Given the description of an element on the screen output the (x, y) to click on. 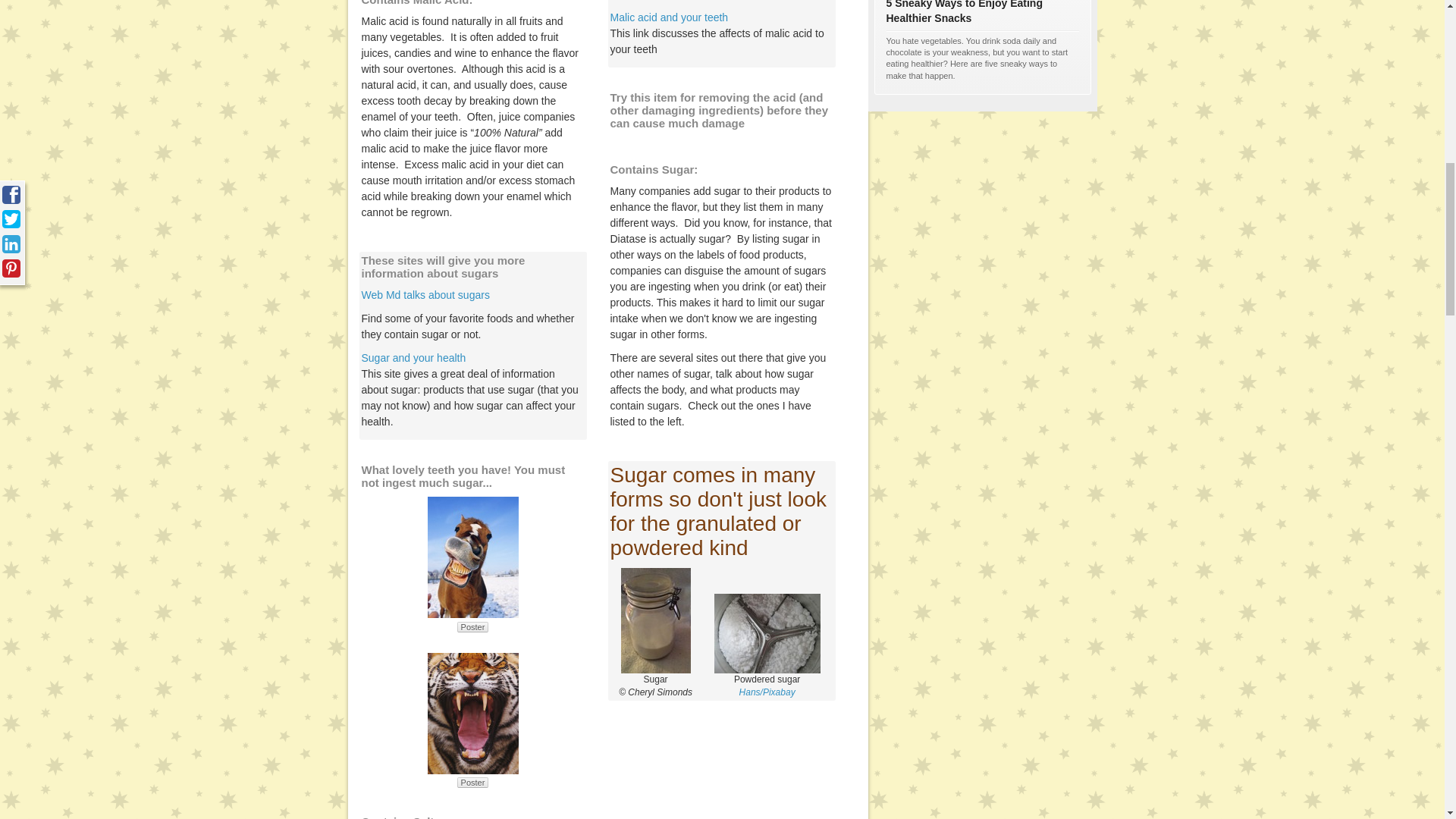
Sugar and your health (413, 357)
Web Md talks about sugars (425, 295)
Sugar (655, 619)
Malic acid and your teeth (669, 17)
Poster (473, 626)
Powdered sugar (767, 632)
Poster (473, 782)
